Given the description of an element on the screen output the (x, y) to click on. 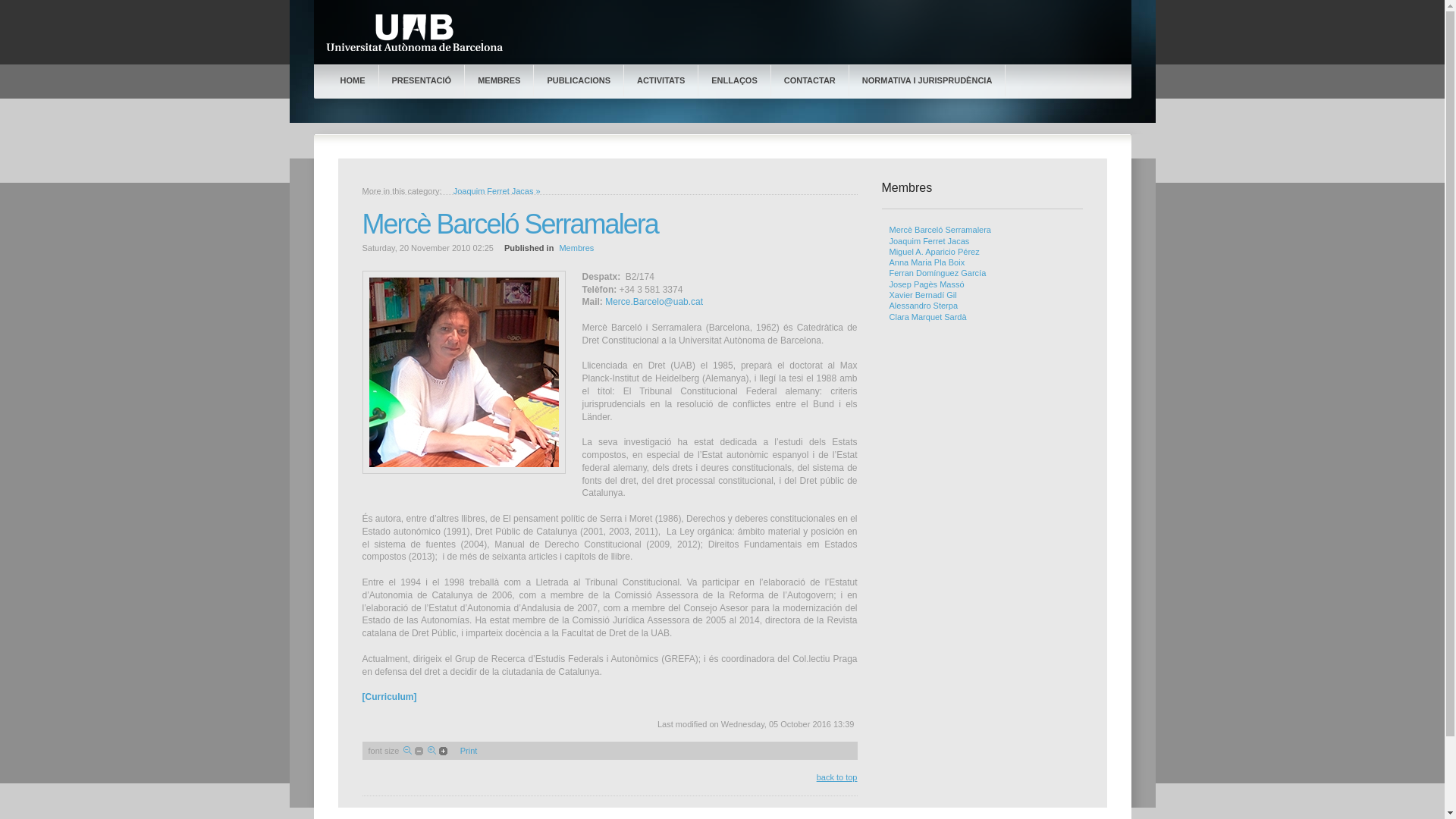
Joaquim Ferret Jacas Element type: text (928, 240)
Alessandro Sterpa Element type: text (922, 305)
Merce.Barcelo@uab.cat Element type: text (653, 301)
ACTIVITATS Element type: text (661, 80)
PUBLICACIONS Element type: text (578, 80)
MEMBRES Element type: text (498, 80)
Logo Element type: text (420, 32)
CONTACTAR Element type: text (810, 80)
Membres Element type: text (575, 247)
Click to preview image Element type: hover (463, 470)
HOME Element type: text (353, 80)
back to top Element type: text (836, 776)
Anna Maria Pla Boix Element type: text (926, 261)
Print Element type: text (468, 750)
[Curriculum] Element type: text (389, 696)
